Given the description of an element on the screen output the (x, y) to click on. 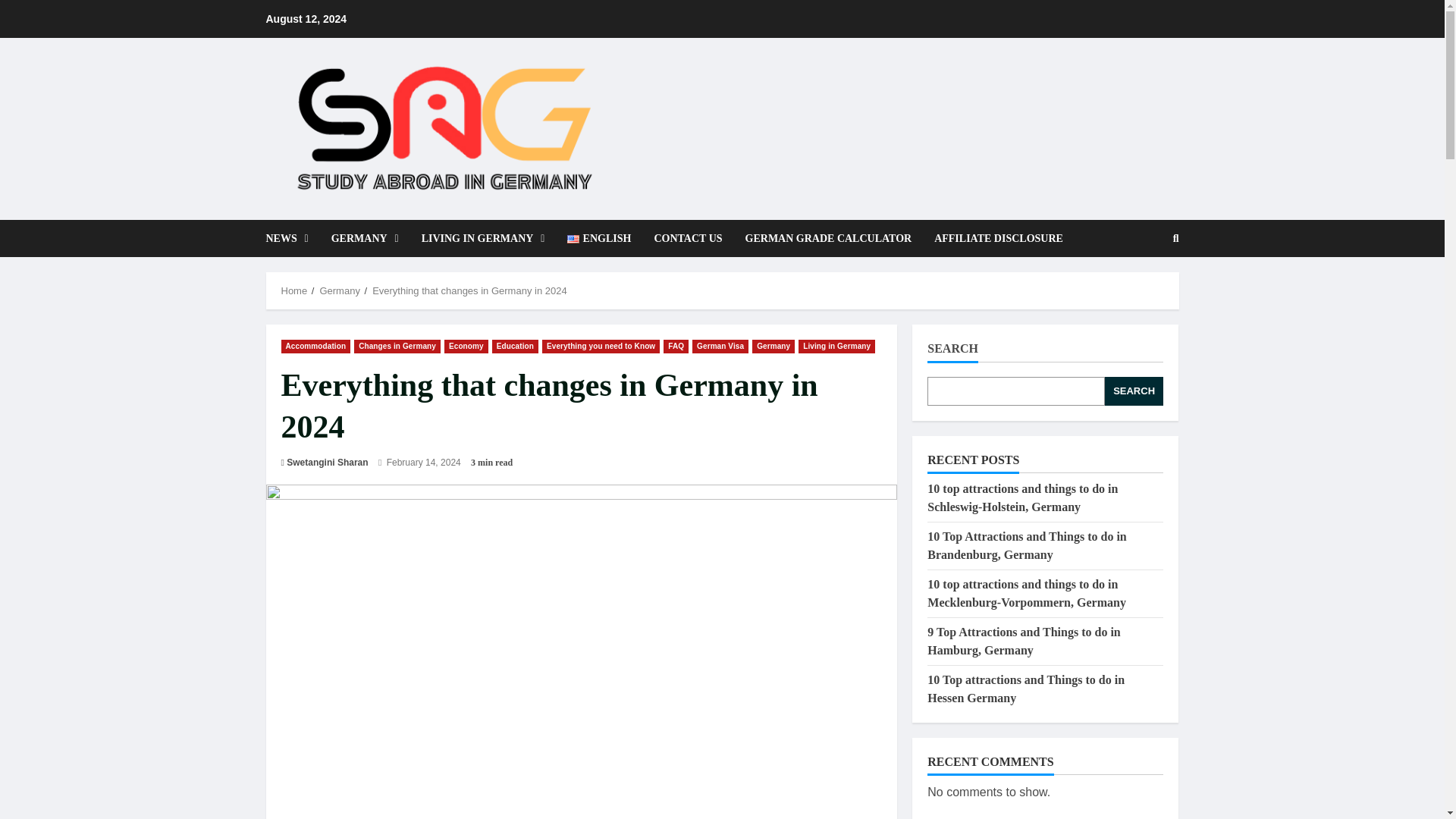
Home (294, 290)
NEWS (291, 238)
Search (1139, 290)
Germany (338, 290)
Accommodation (315, 345)
Economy (465, 345)
AFFILIATE DISCLOSURE (992, 238)
FAQ (675, 345)
Everything you need to Know (600, 345)
Education (515, 345)
